Given the description of an element on the screen output the (x, y) to click on. 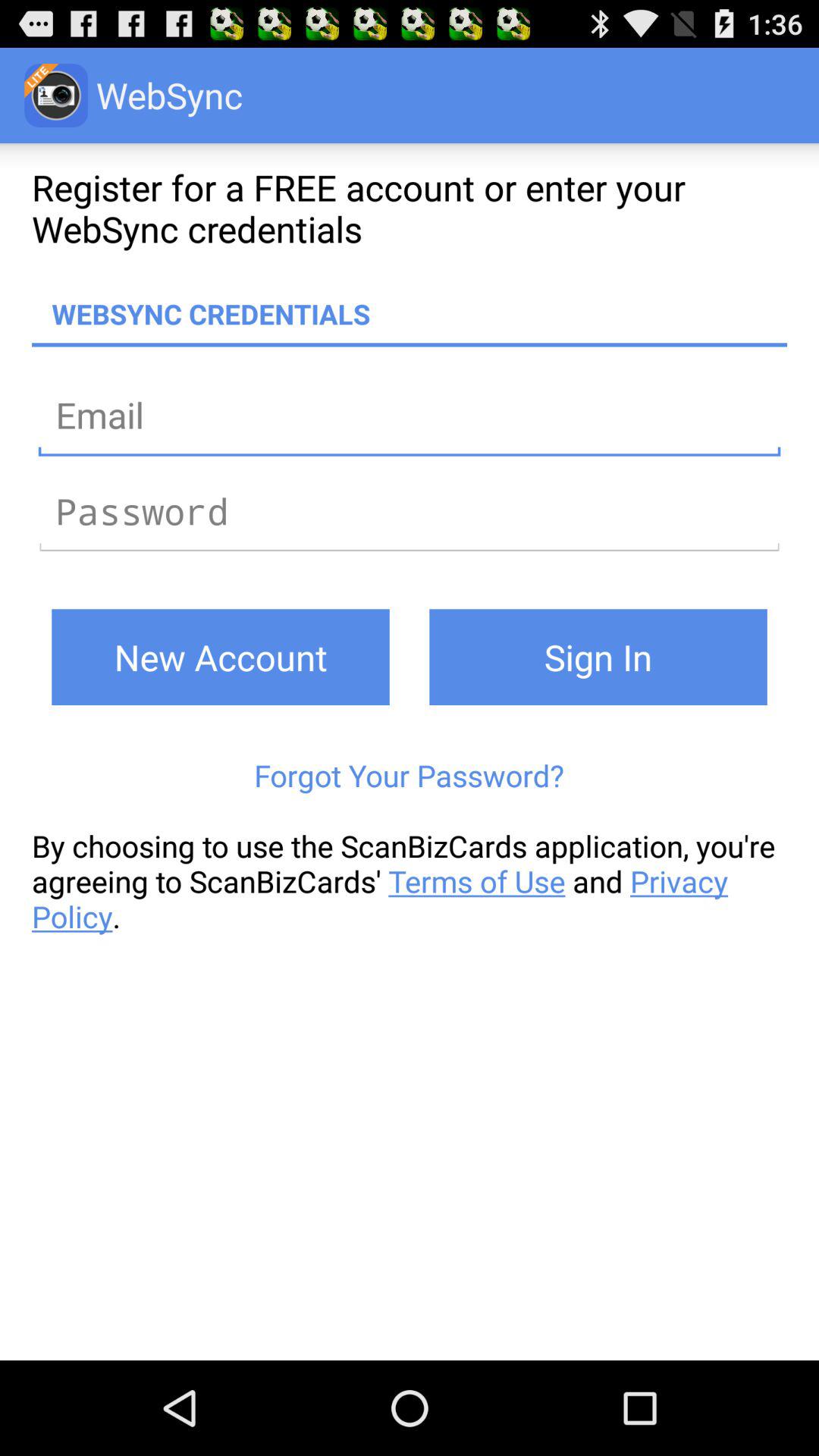
jump to new account icon (220, 657)
